Given the description of an element on the screen output the (x, y) to click on. 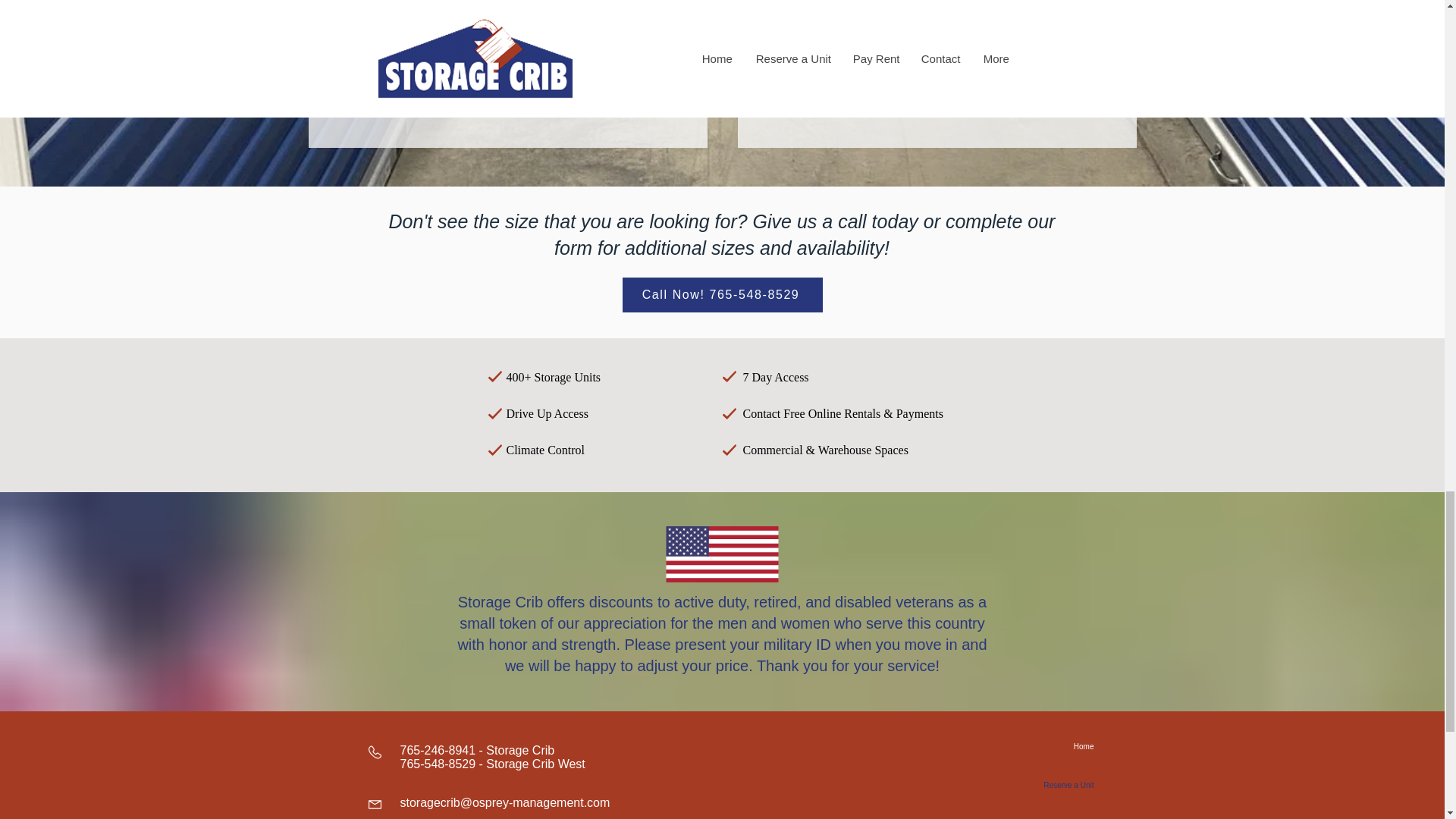
Call Now! 765-548-8529 (721, 294)
765-246-8941 - Storage Crib (477, 749)
765-548-8529 (438, 763)
Reserve a Unit (587, 93)
Home (1040, 746)
Reserve a Unit (1016, 93)
